Given the description of an element on the screen output the (x, y) to click on. 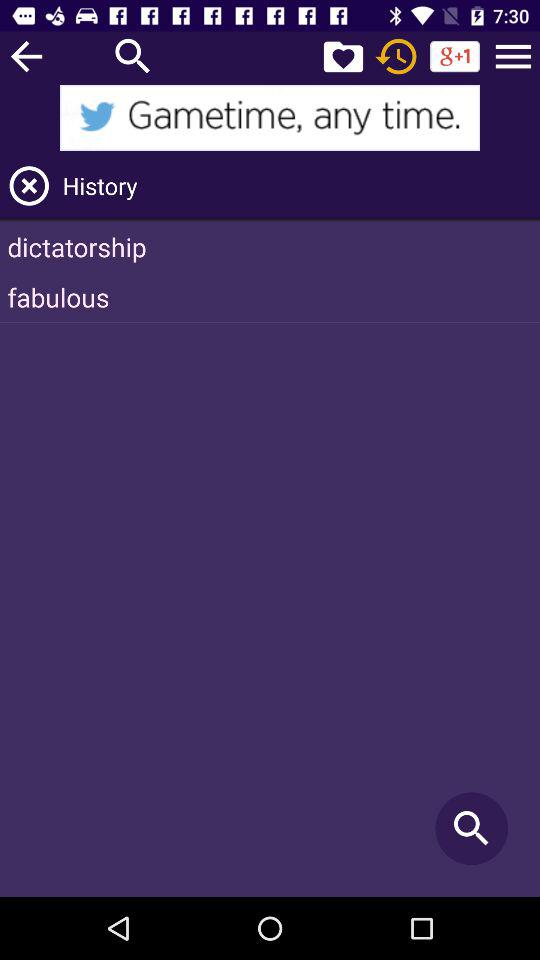
tap the app above fabulous icon (270, 246)
